Given the description of an element on the screen output the (x, y) to click on. 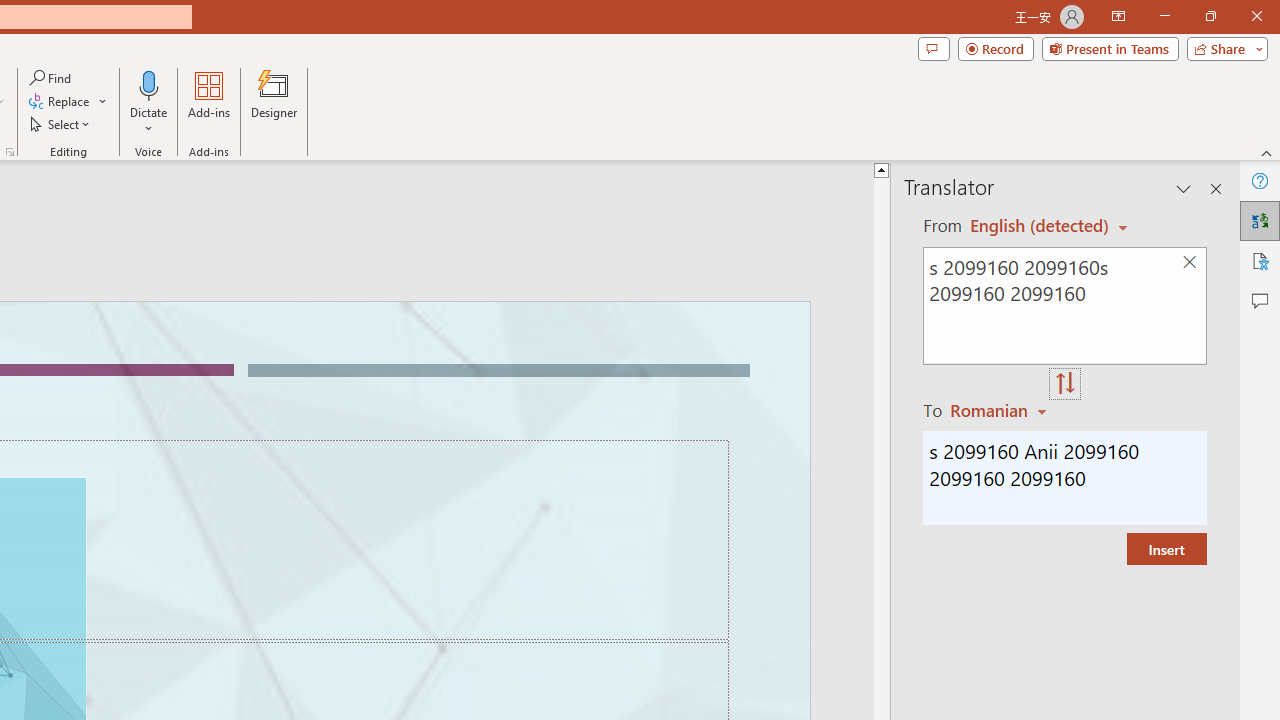
Czech (detected) (1039, 225)
Clear text (1189, 262)
Czech (1001, 409)
